Given the description of an element on the screen output the (x, y) to click on. 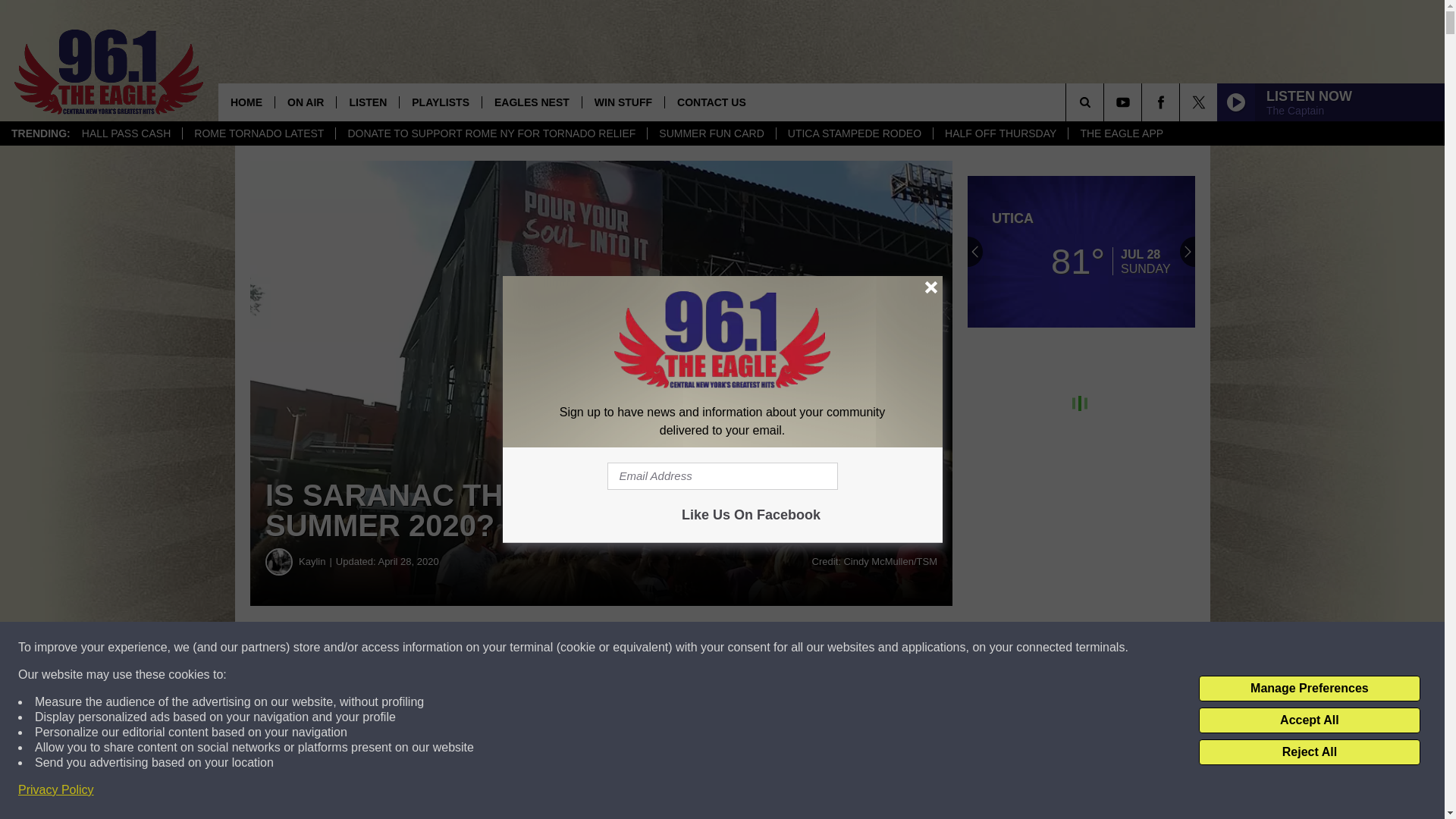
Accept All (1309, 720)
HALL PASS CASH (126, 133)
HALF OFF THURSDAY (1000, 133)
CONTACT US (710, 102)
ROME TORNADO LATEST (258, 133)
SEARCH (1106, 102)
EAGLES NEST (530, 102)
THE EAGLE APP (1120, 133)
UTICA STAMPEDE RODEO (854, 133)
PLAYLISTS (439, 102)
Reject All (1309, 751)
Share on Twitter (741, 647)
Privacy Policy (55, 789)
Manage Preferences (1309, 688)
SEARCH (1106, 102)
